Given the description of an element on the screen output the (x, y) to click on. 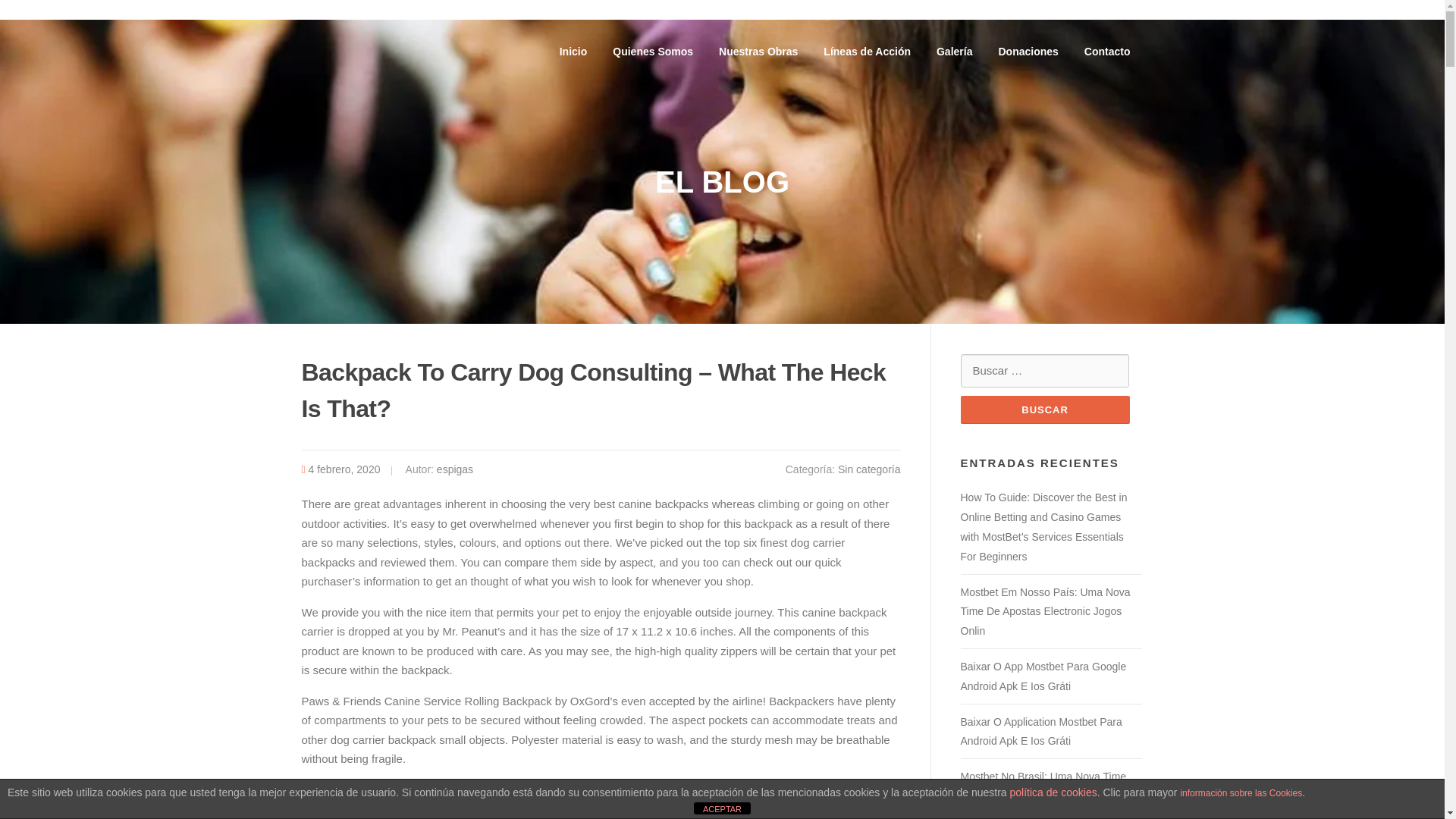
Quienes Somos (652, 51)
Buscar (1044, 409)
Buscar (1044, 409)
Mostbet No Brasil: Uma Nova Time De Apostas E Jogos Onlin (1042, 786)
Contacto (1106, 51)
Donaciones (1027, 51)
Nuestras Obras (758, 51)
espigas (454, 469)
Buscar (1044, 409)
4 febrero, 2020 (344, 469)
